Given the description of an element on the screen output the (x, y) to click on. 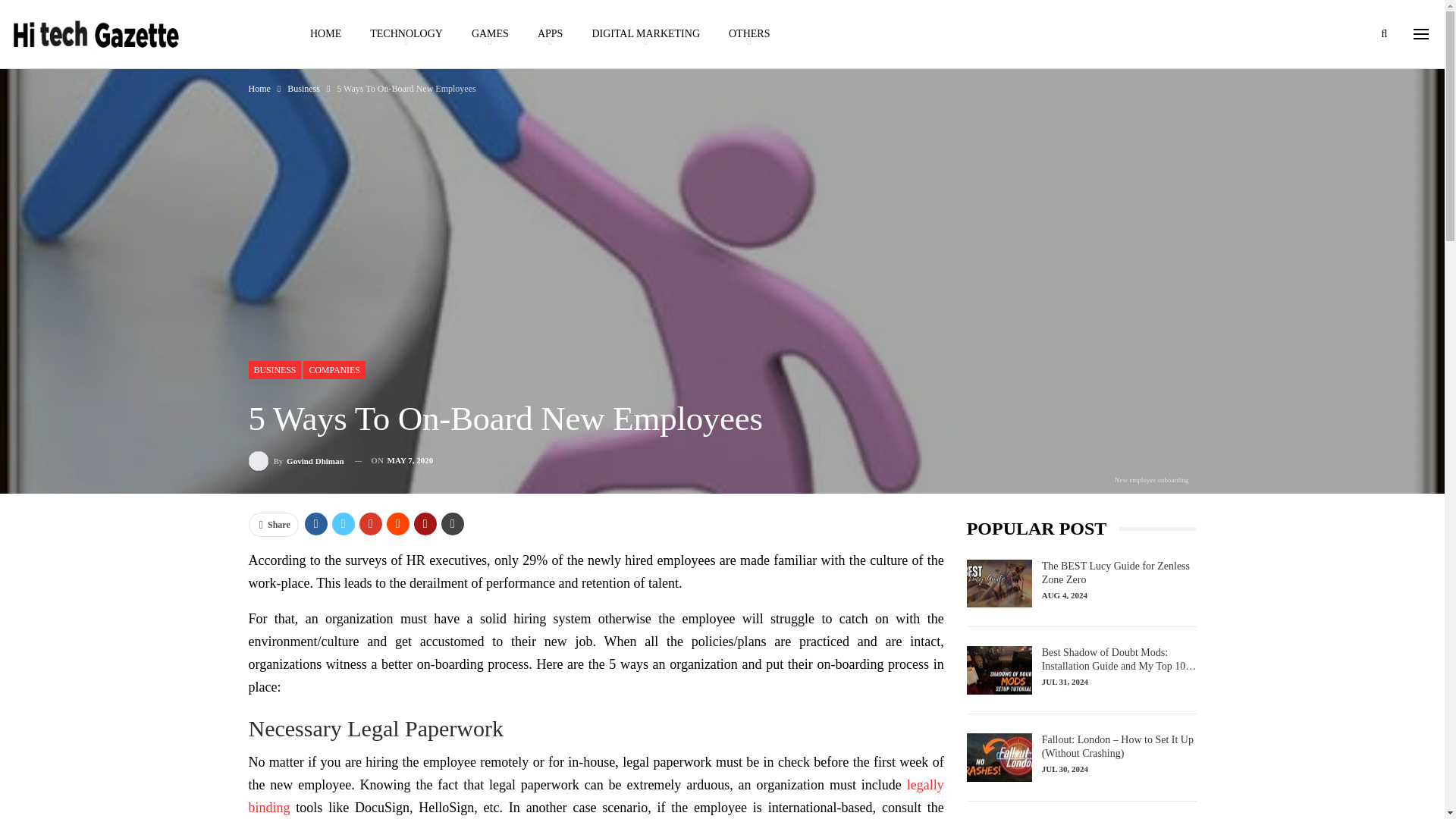
Browse Author Articles (295, 460)
HOME (325, 33)
GAMES (489, 33)
TECHNOLOGY (406, 33)
